Given the description of an element on the screen output the (x, y) to click on. 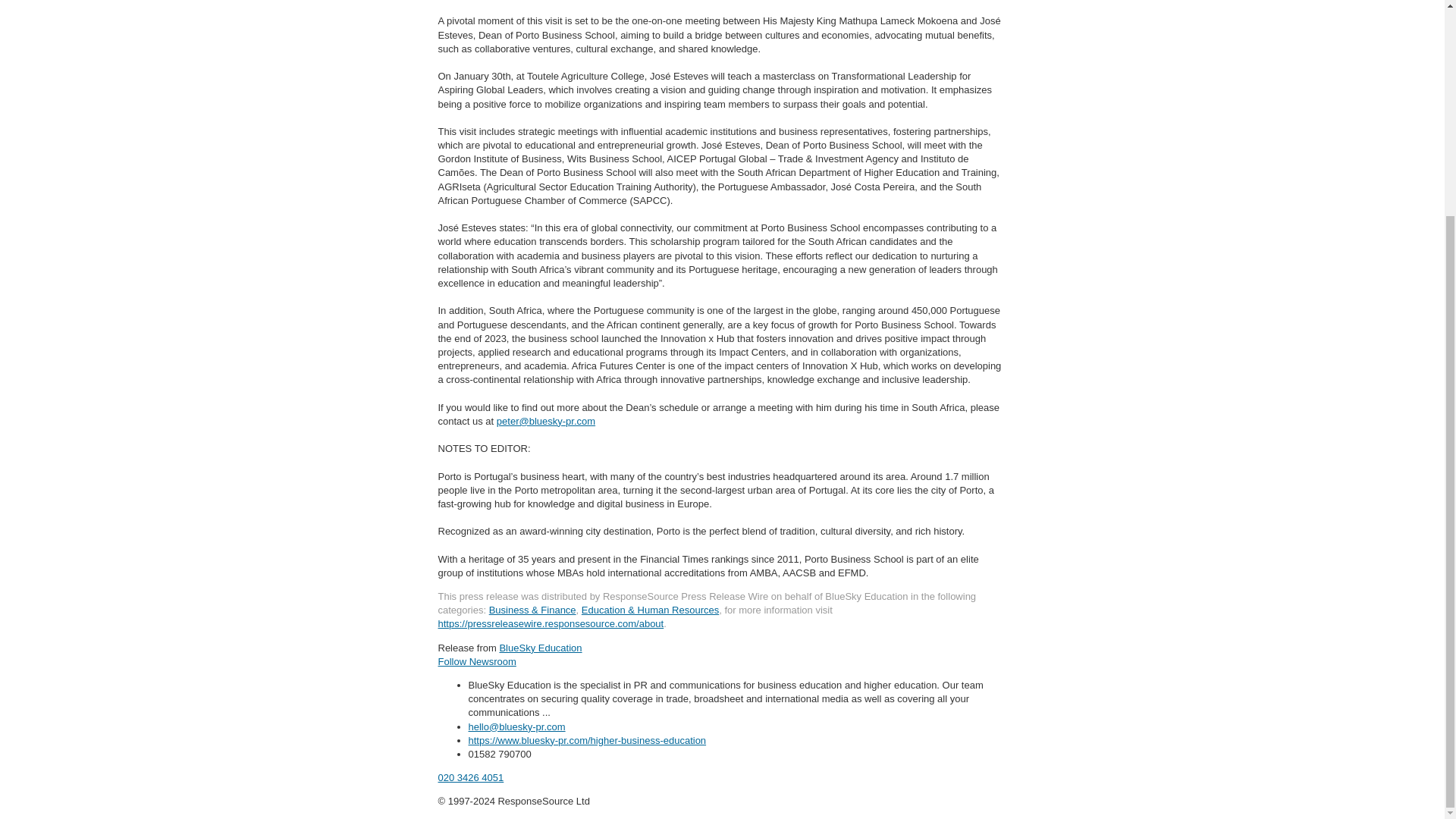
Follow Newsroom (477, 661)
020 3426 4051 (470, 777)
View newsroom for BlueSky Education (539, 647)
Email me releases from BlueSky Education (477, 661)
BlueSky Education (539, 647)
